Given the description of an element on the screen output the (x, y) to click on. 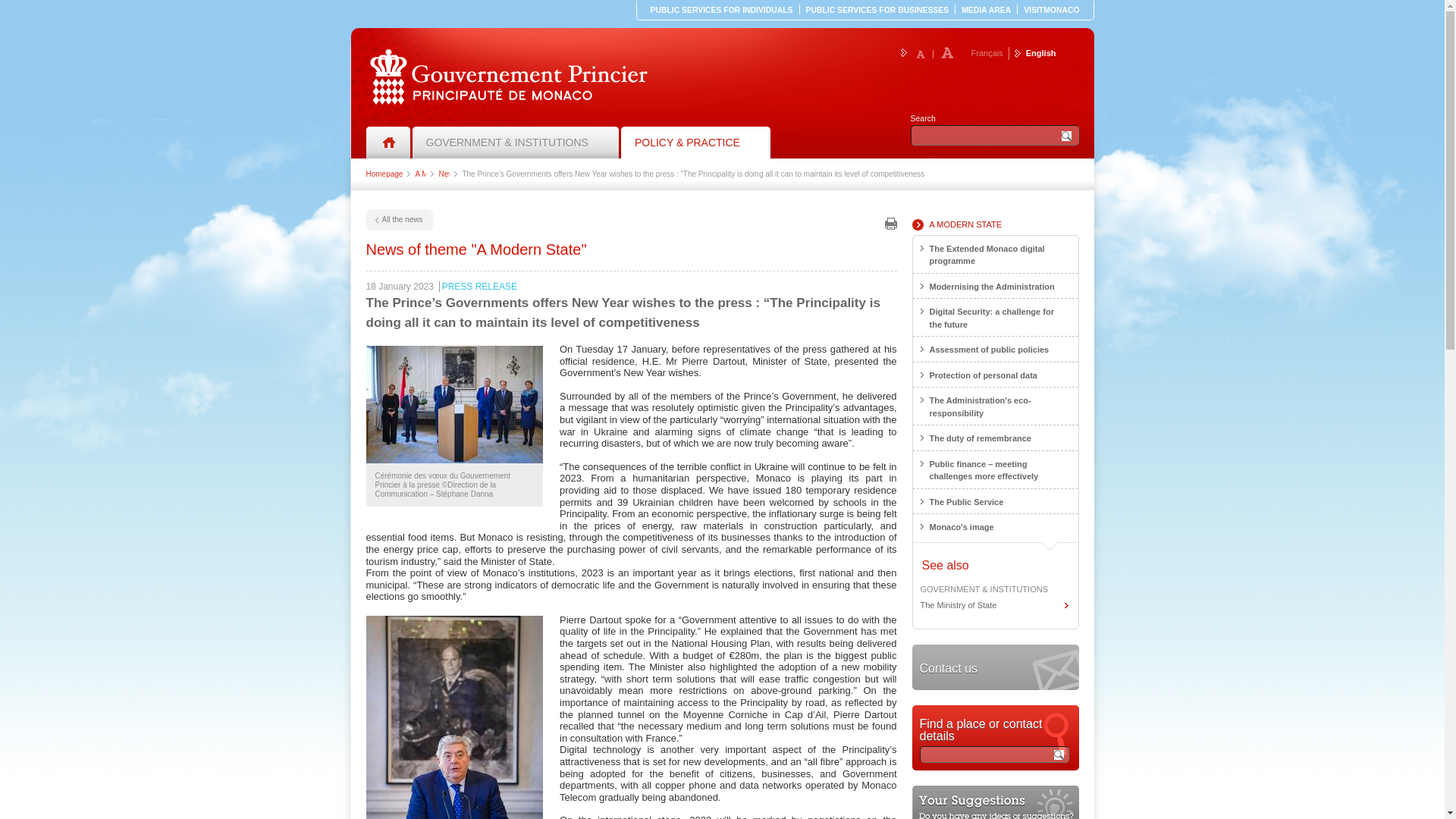
MEDIA AREA (985, 9)
Back Homepage (387, 142)
Increase font (946, 52)
PUBLIC SERVICES FOR INDIVIDUALS (721, 9)
VISITMONACO (1050, 9)
English (1035, 52)
Back Homepage (508, 77)
PUBLIC SERVICES FOR BUSINESSES (508, 77)
Change language to English (877, 9)
